Given the description of an element on the screen output the (x, y) to click on. 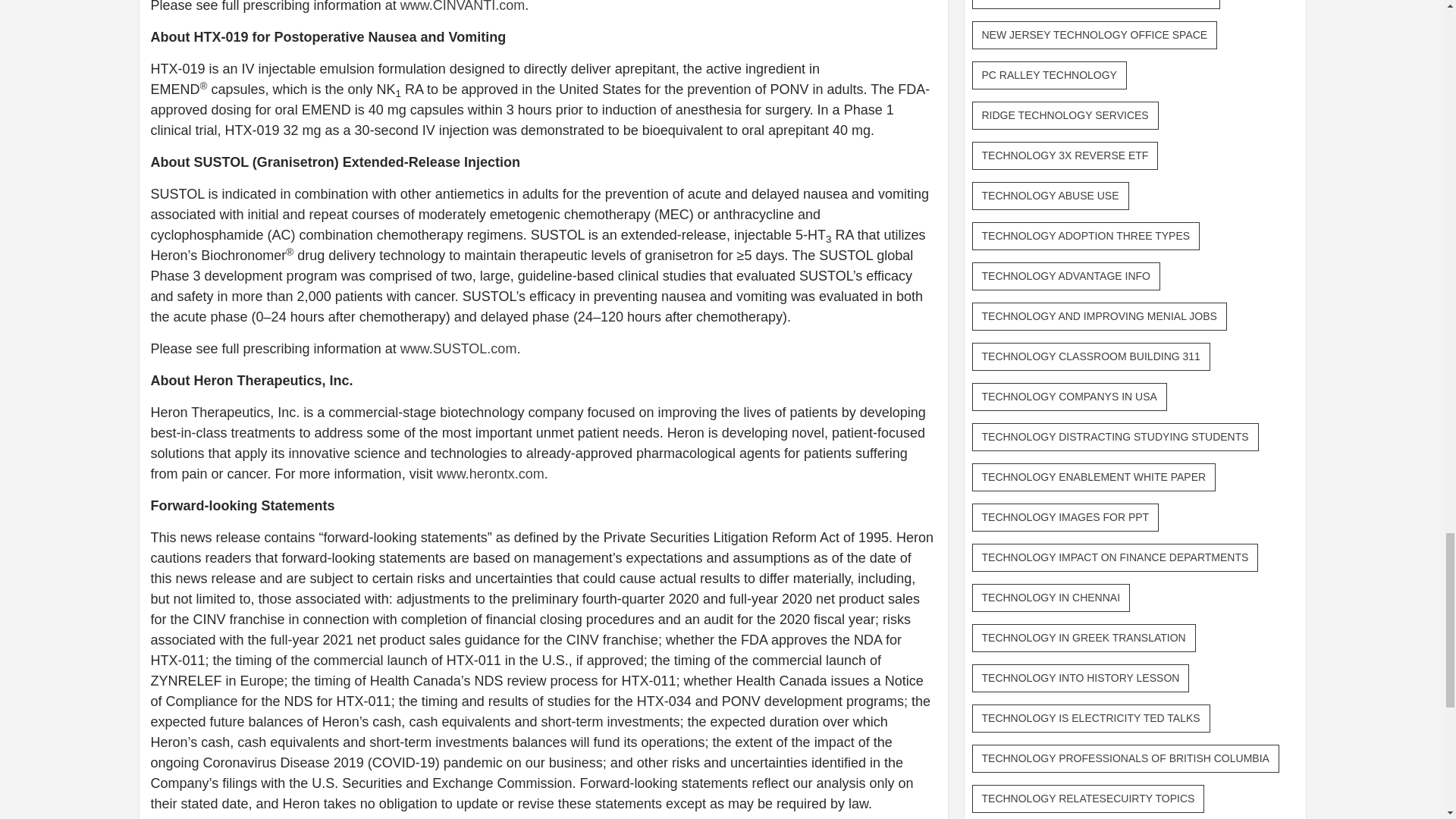
www.SUSTOL.com (458, 348)
www.herontx.com (490, 473)
www.CINVANTI.com (462, 6)
